Given the description of an element on the screen output the (x, y) to click on. 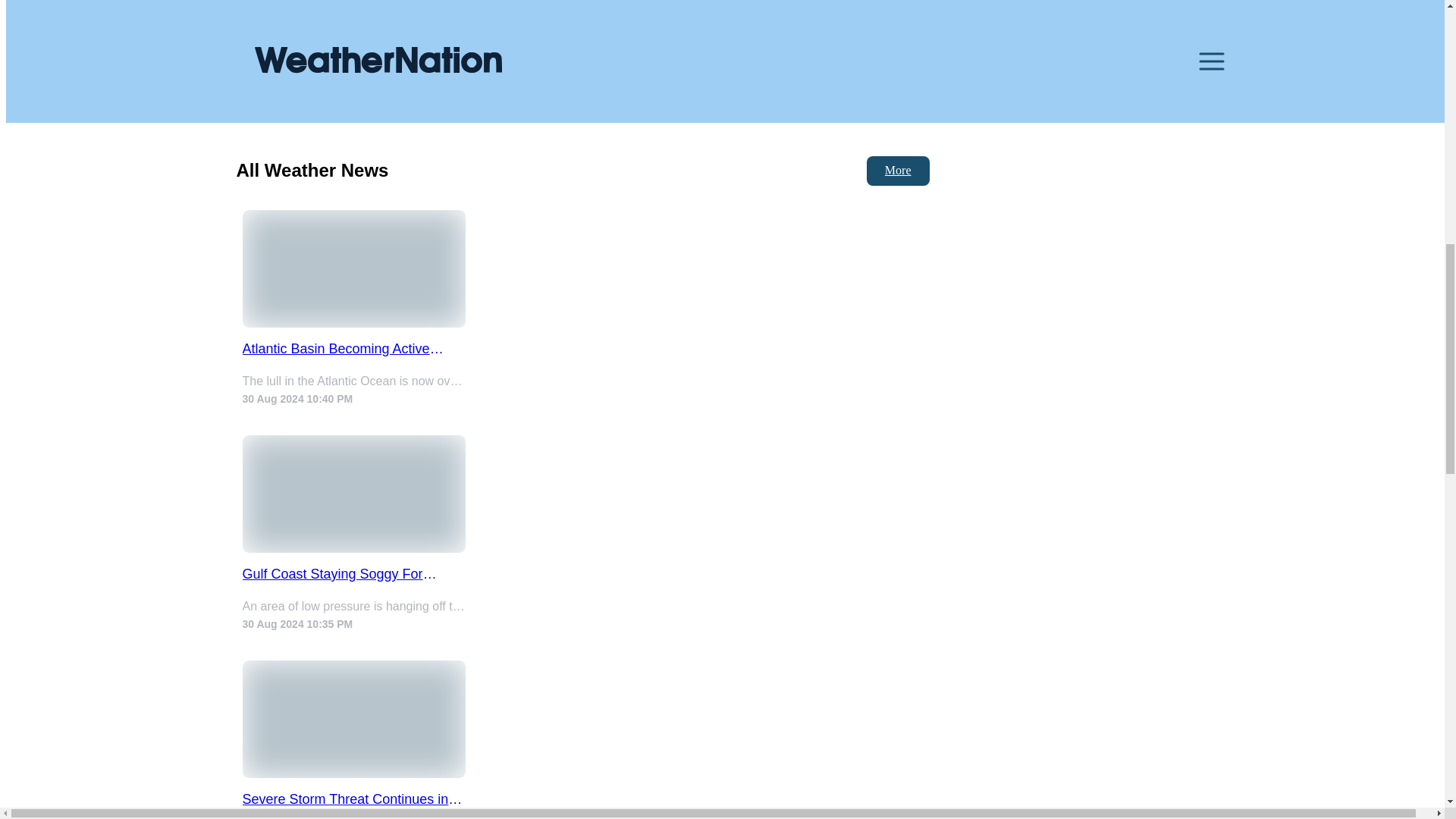
Atlantic Basin Becoming Active Again (354, 349)
USGS (529, 36)
reported (716, 19)
Gulf Coast Staying Soggy For Awhile (354, 574)
More (898, 170)
Severe Storm Threat Continues in the Midwest (354, 799)
